Given the description of an element on the screen output the (x, y) to click on. 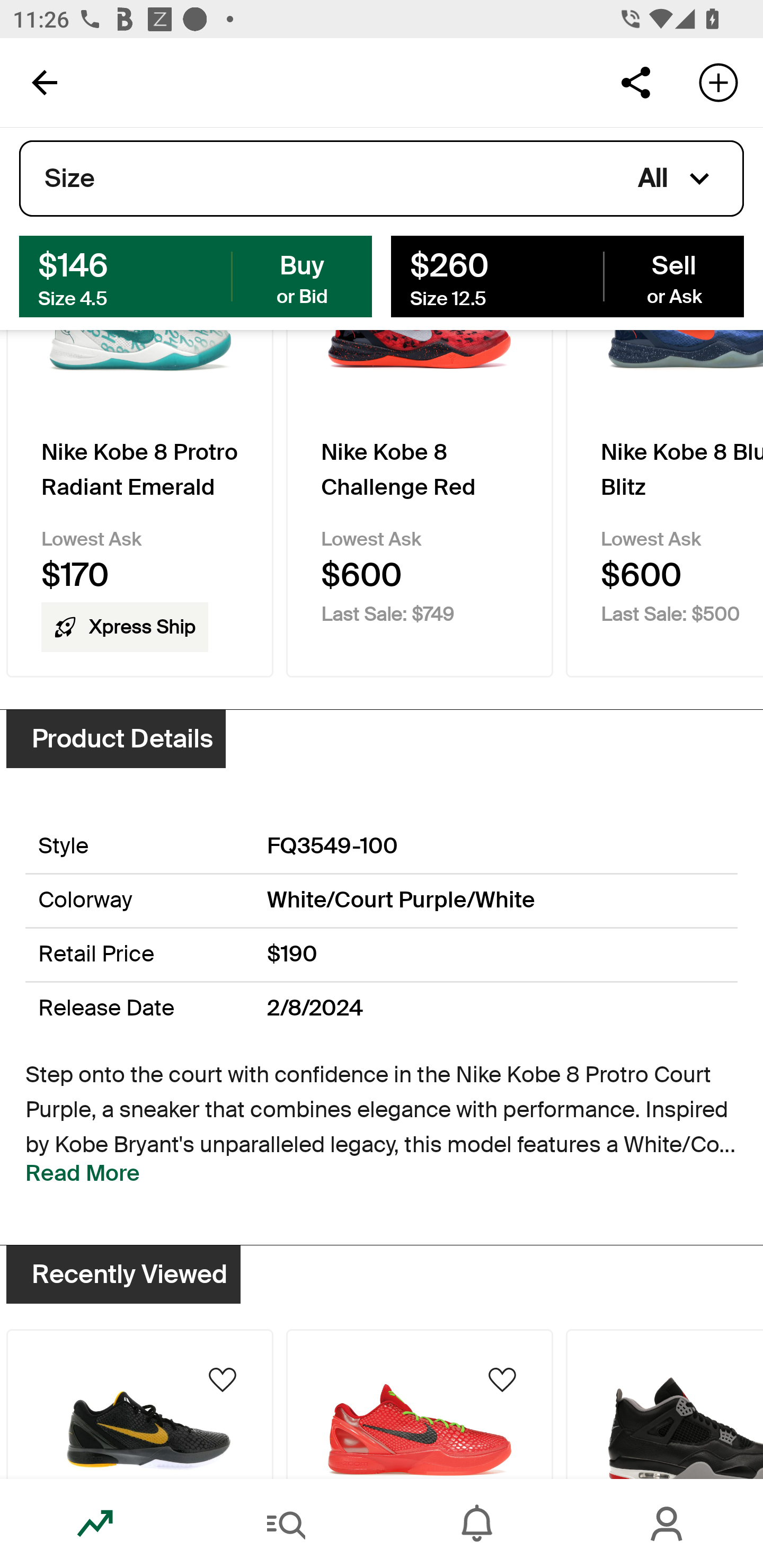
Share (635, 81)
Add (718, 81)
Size All (381, 178)
$146 Buy Size 4.5 or Bid (195, 275)
$260 Sell Size 12.5 or Ask (566, 275)
Read More (82, 1172)
Product Image (139, 1403)
Product Image (419, 1403)
Product Image (664, 1403)
Search (285, 1523)
Inbox (476, 1523)
Account (667, 1523)
